Given the description of an element on the screen output the (x, y) to click on. 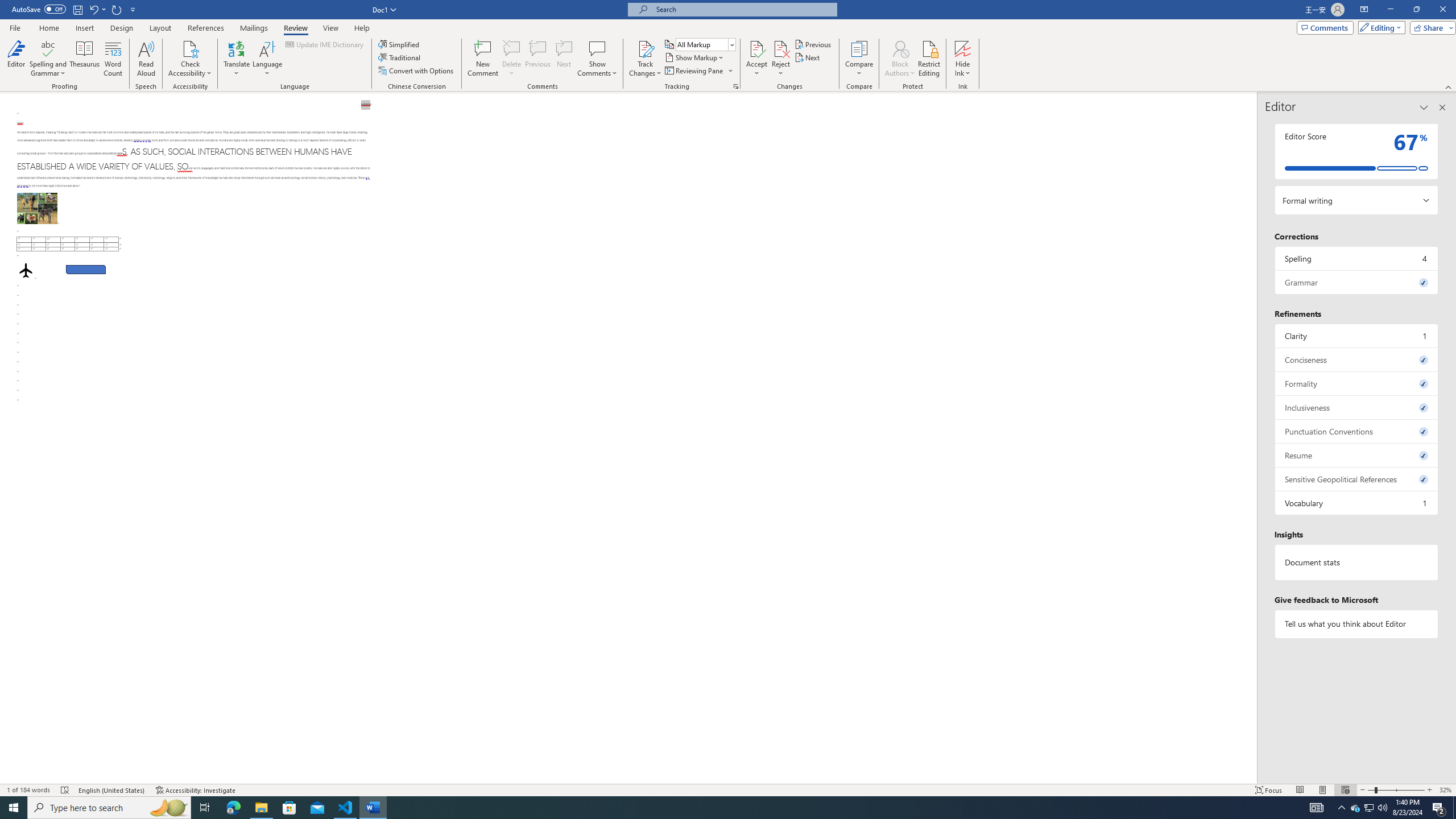
More Options (962, 68)
Hide Ink (962, 58)
AutoSave (38, 9)
Class: MsoCommandBar (728, 45)
Clarity, 1 issue. Press space or enter to review items. (1356, 335)
Zoom 32% (1445, 790)
Display for Review (705, 44)
Translate (236, 58)
Document statistics (1356, 561)
Reject and Move to Next (780, 48)
Minimize (1390, 9)
Delete (511, 58)
Check Accessibility (189, 58)
